Given the description of an element on the screen output the (x, y) to click on. 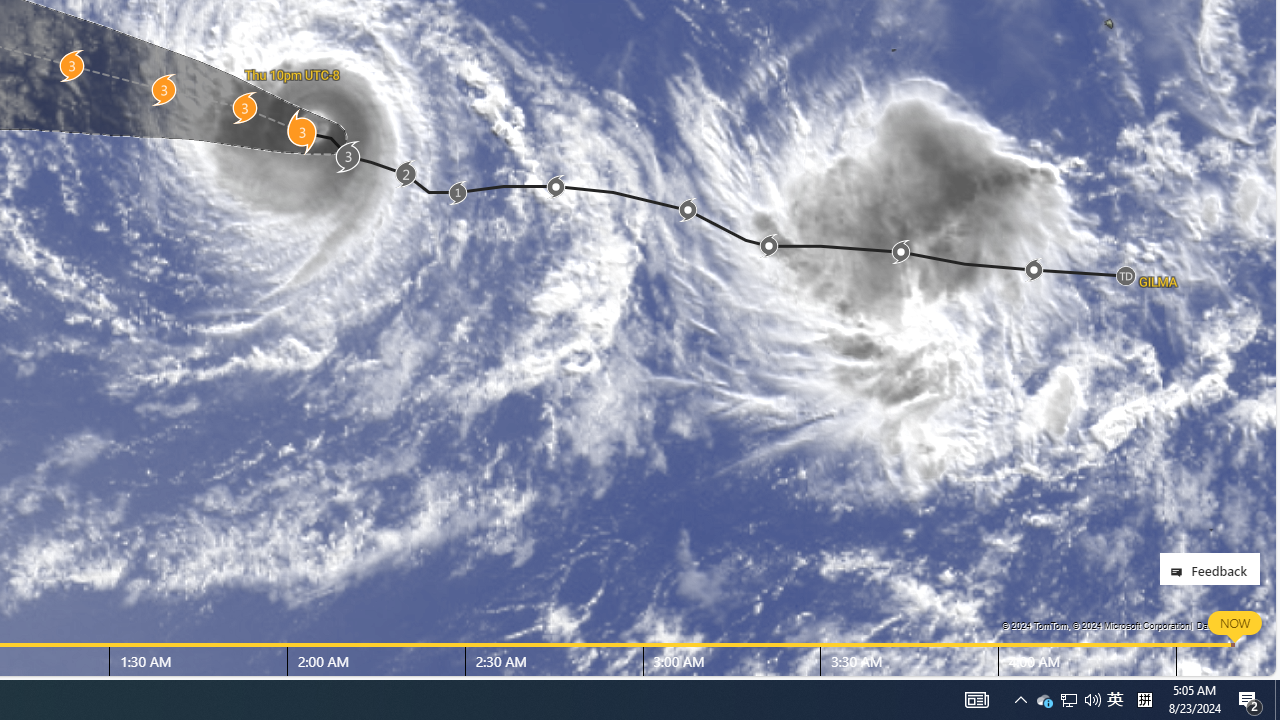
Data Providers (1225, 625)
Class: feedback_link_icon-DS-EntryPoint1-1 (1179, 571)
